Given the description of an element on the screen output the (x, y) to click on. 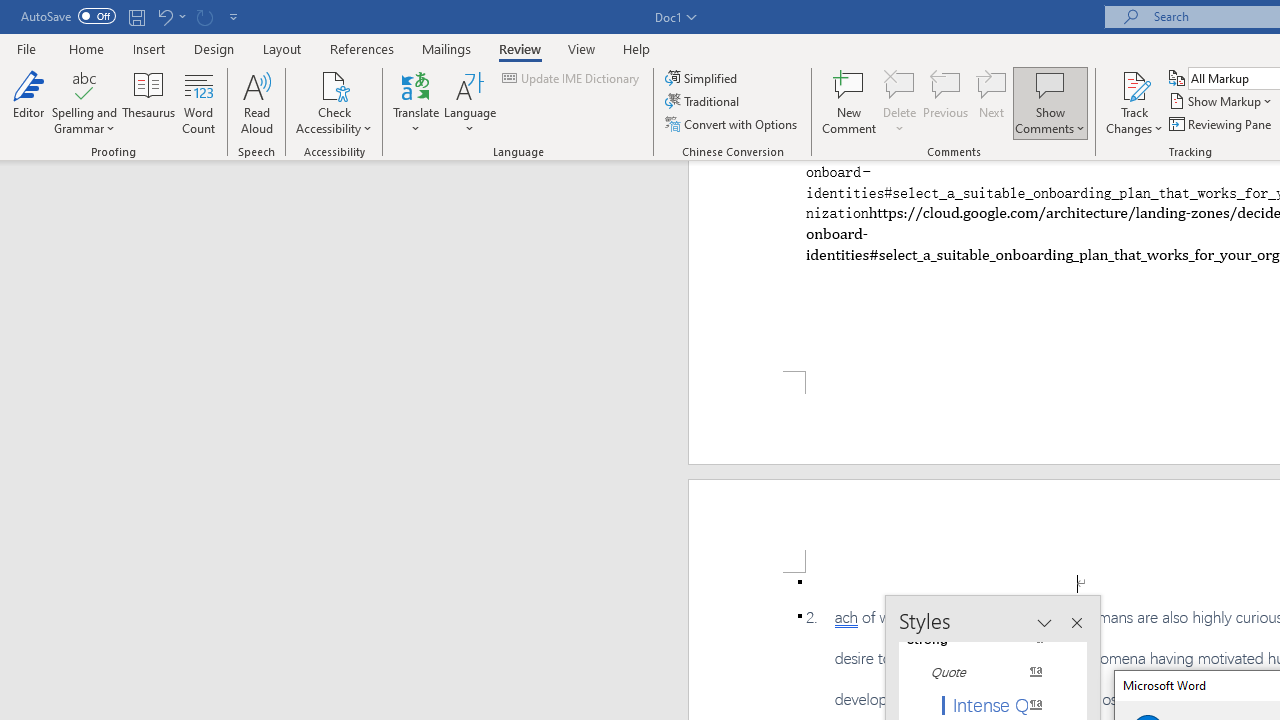
Quote (984, 672)
Convert with Options... (732, 124)
Spelling and Grammar (84, 84)
Undo Paste (164, 15)
Update IME Dictionary... (572, 78)
Track Changes (1134, 84)
New Comment (849, 102)
Strong (984, 638)
Traditional (703, 101)
